Given the description of an element on the screen output the (x, y) to click on. 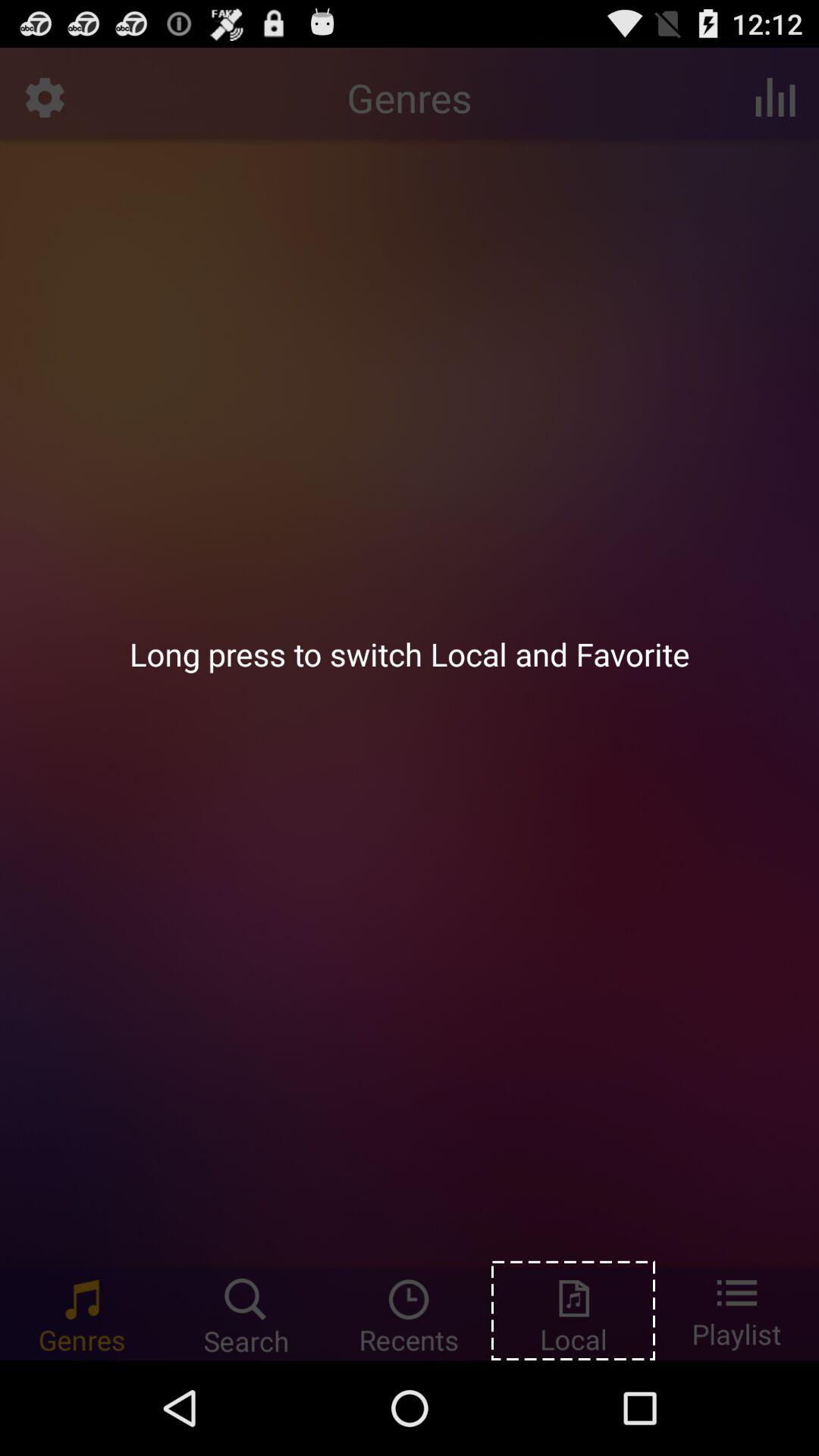
launch icon at the top right corner (775, 96)
